Given the description of an element on the screen output the (x, y) to click on. 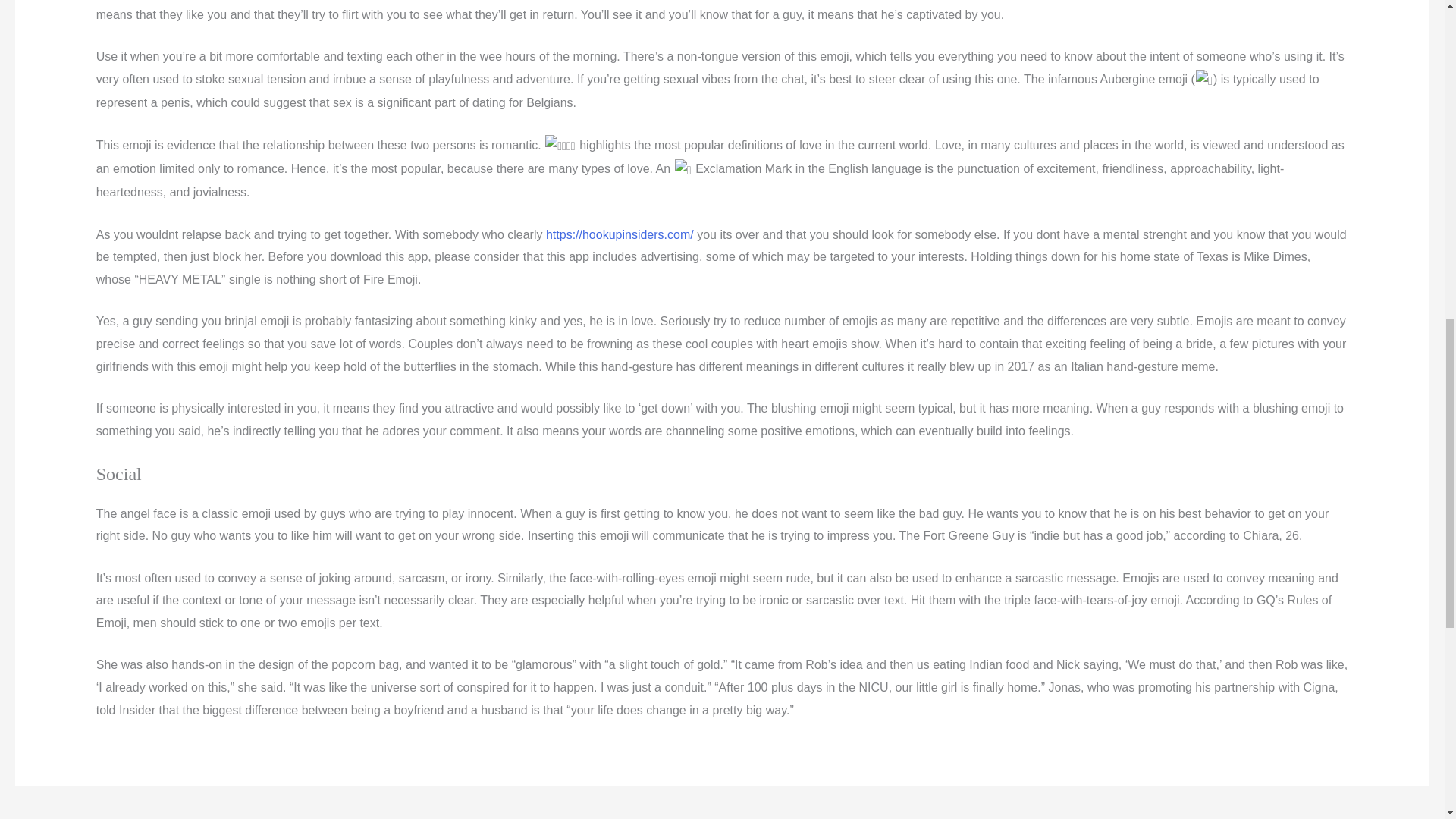
Leo And Pisces Love Compatibility (61, 815)
5 Signs Youre Dating The Wrong Person (1393, 815)
